Given the description of an element on the screen output the (x, y) to click on. 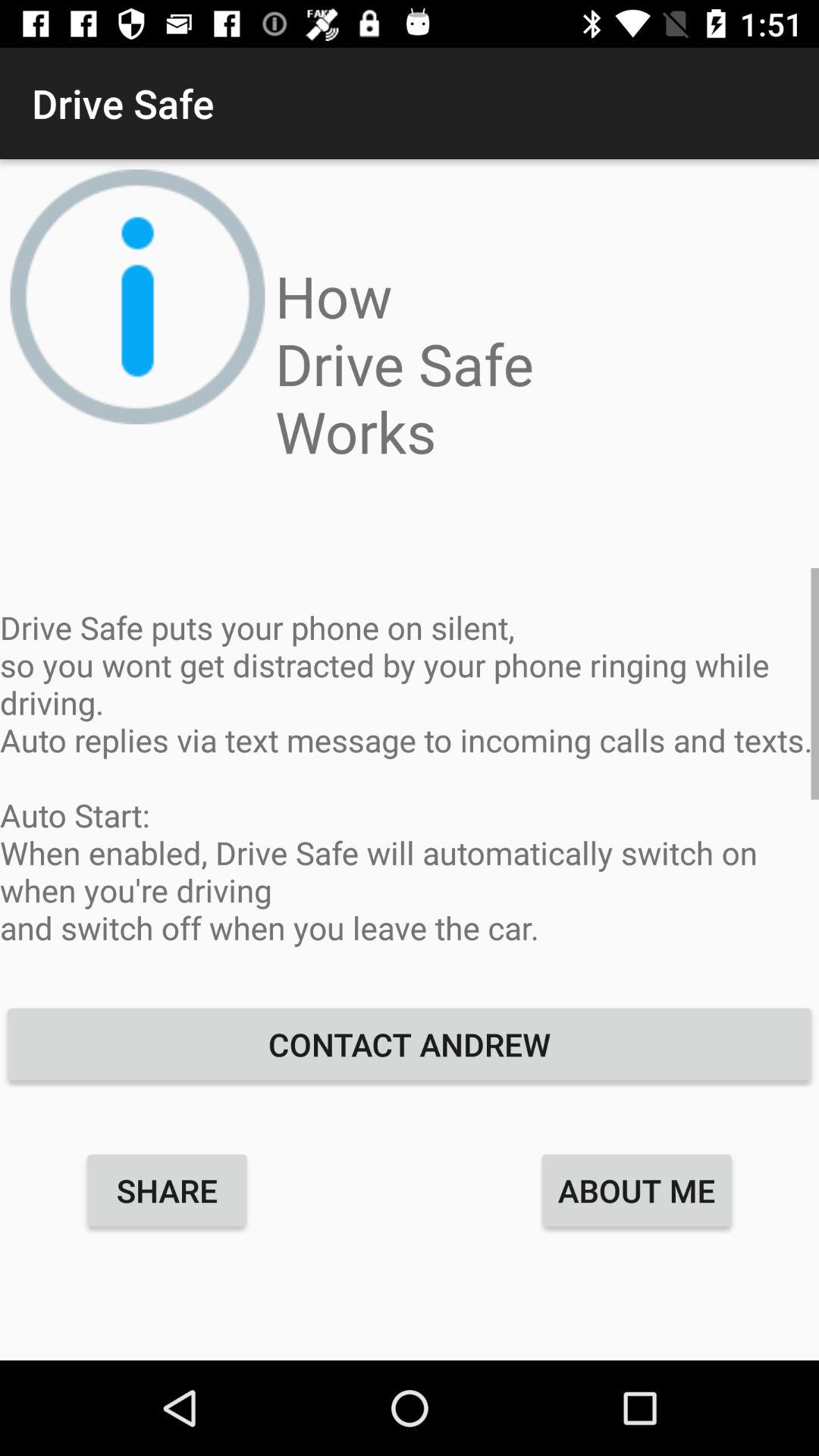
turn off the share (166, 1190)
